Given the description of an element on the screen output the (x, y) to click on. 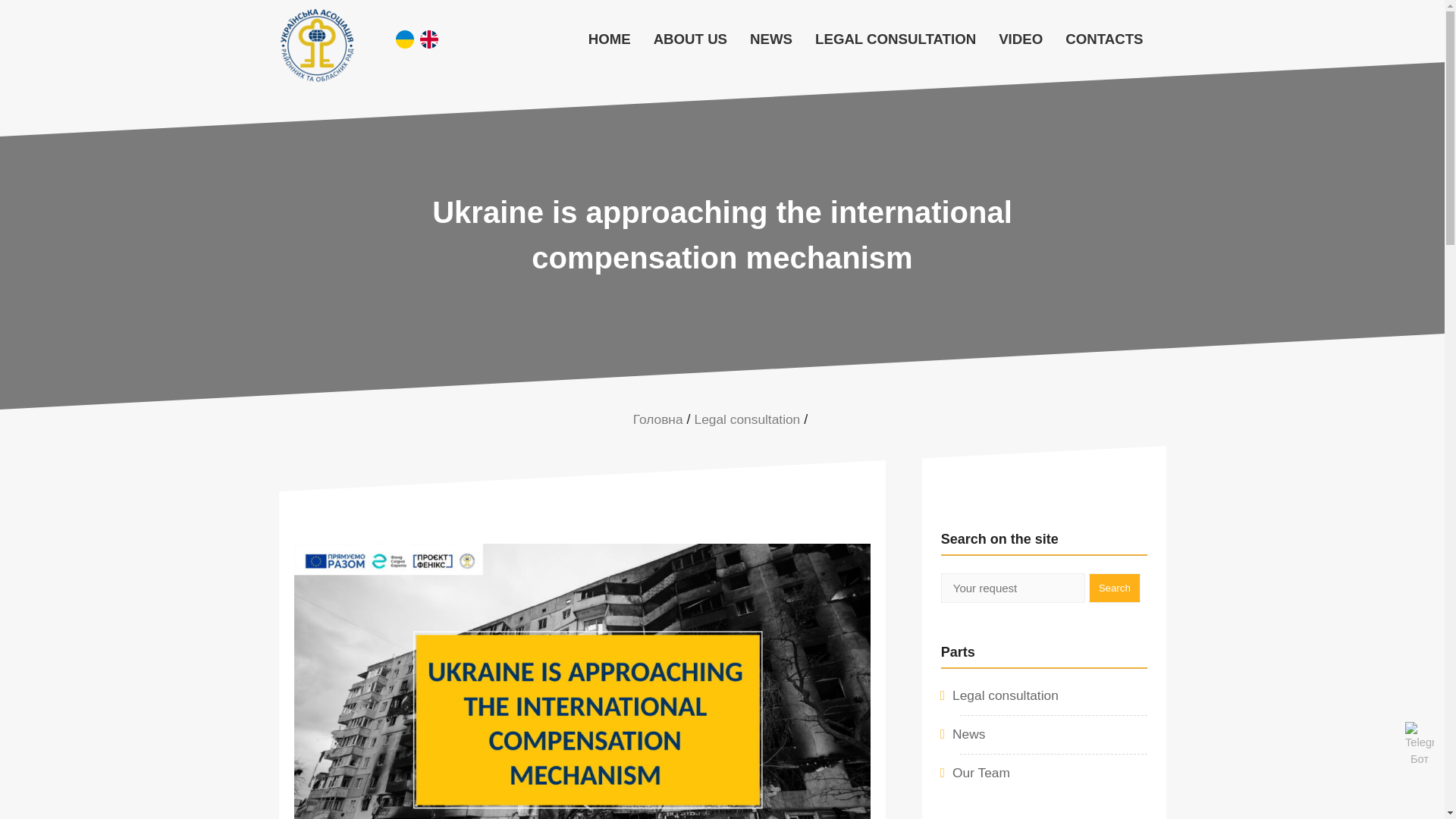
ABOUT US (689, 39)
HOME (609, 39)
Search (1114, 587)
CONTACTS (1103, 39)
News (968, 734)
Our Team (981, 772)
VIDEO (1020, 39)
NEWS (770, 39)
Legal consultation (1005, 694)
Legal consultation (747, 418)
